Given the description of an element on the screen output the (x, y) to click on. 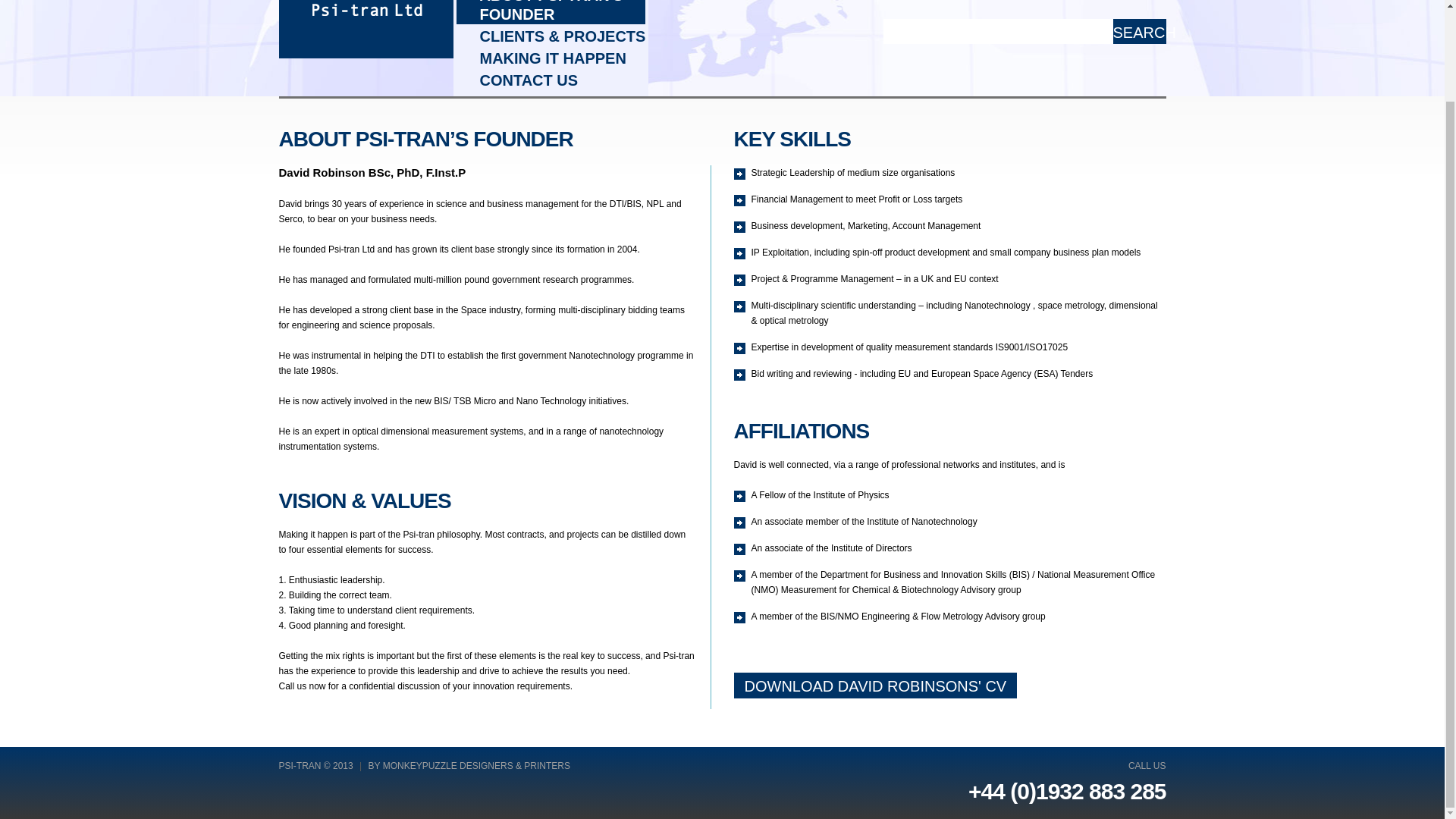
DOWNLOAD DAVID ROBINSONS' CV (875, 685)
SEARCH (1139, 31)
MAKING IT HAPPEN (549, 58)
ABOUT PSI-TRAN'S FOUNDER (551, 12)
CONTACT US (549, 80)
